Given the description of an element on the screen output the (x, y) to click on. 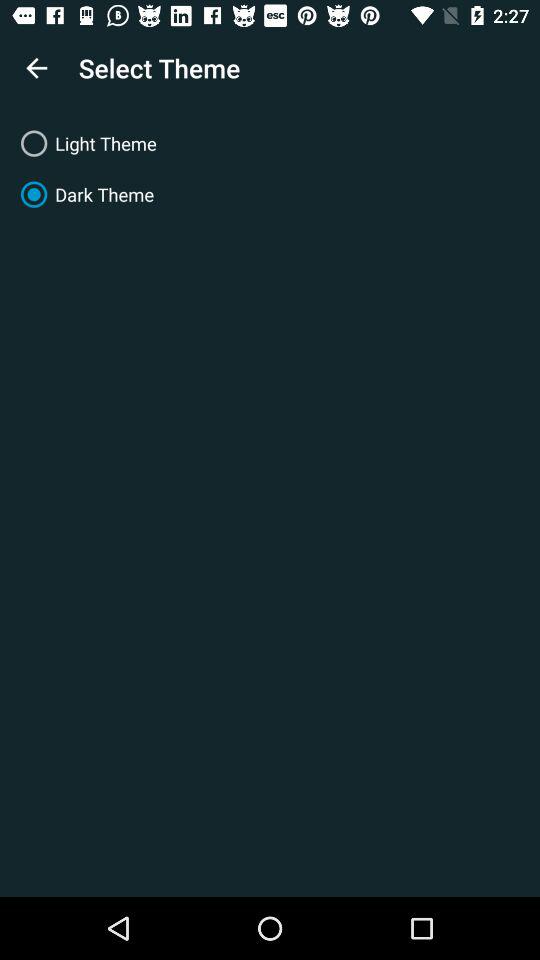
turn off dark theme (269, 194)
